Given the description of an element on the screen output the (x, y) to click on. 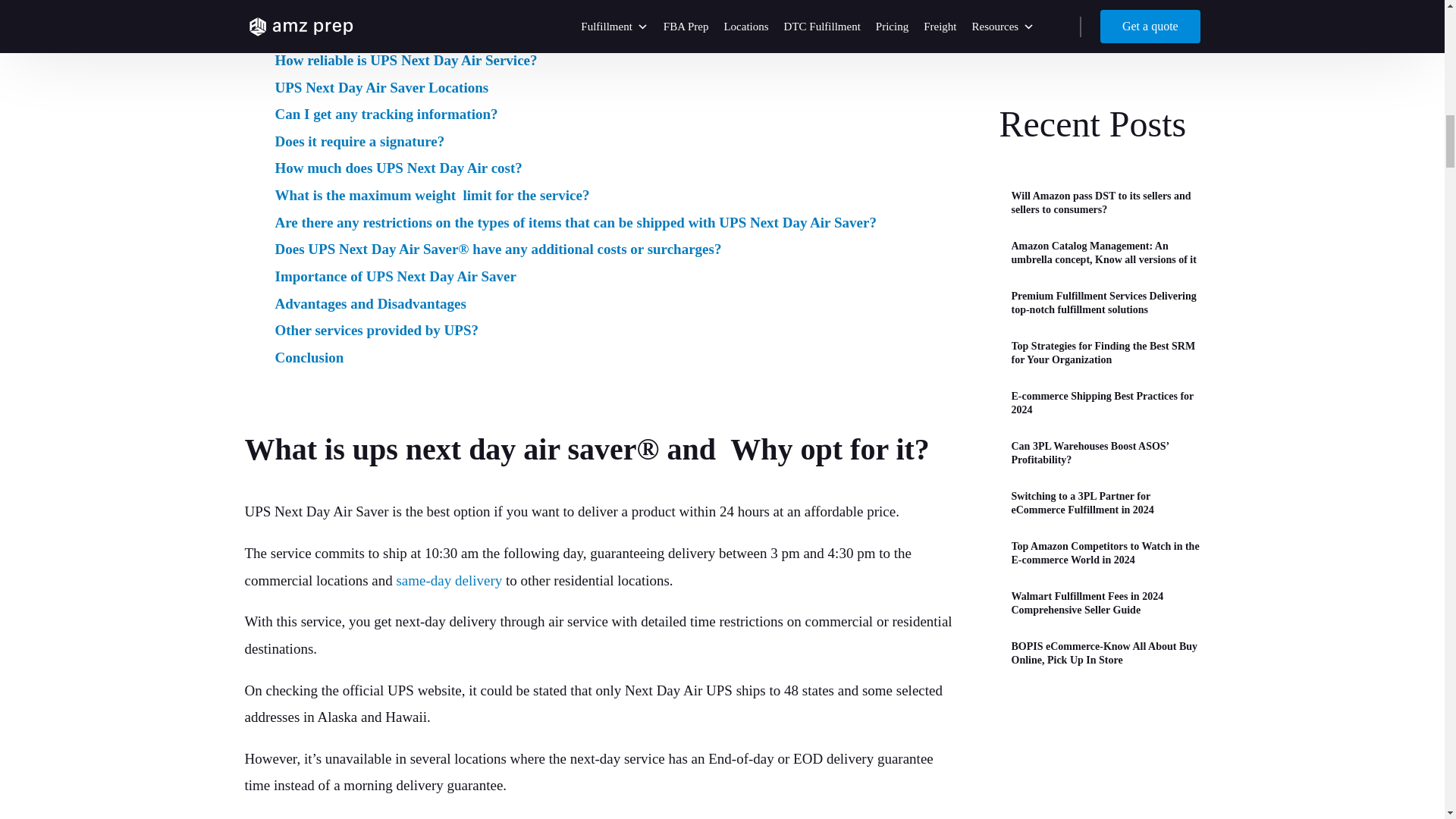
What is the UPS overnight cutoff time? (395, 32)
Advantages and Disadvantages (370, 303)
Does it require a signature? (359, 141)
Can I get any tracking information? (386, 114)
UPS Next Day Air Saver Locations (381, 87)
How does UPS deal with a lost package case? (413, 7)
How reliable is UPS Next Day Air Service? (406, 59)
How much does UPS Next Day Air cost? (398, 167)
What is the maximum weight  limit for the service? (432, 195)
